Given the description of an element on the screen output the (x, y) to click on. 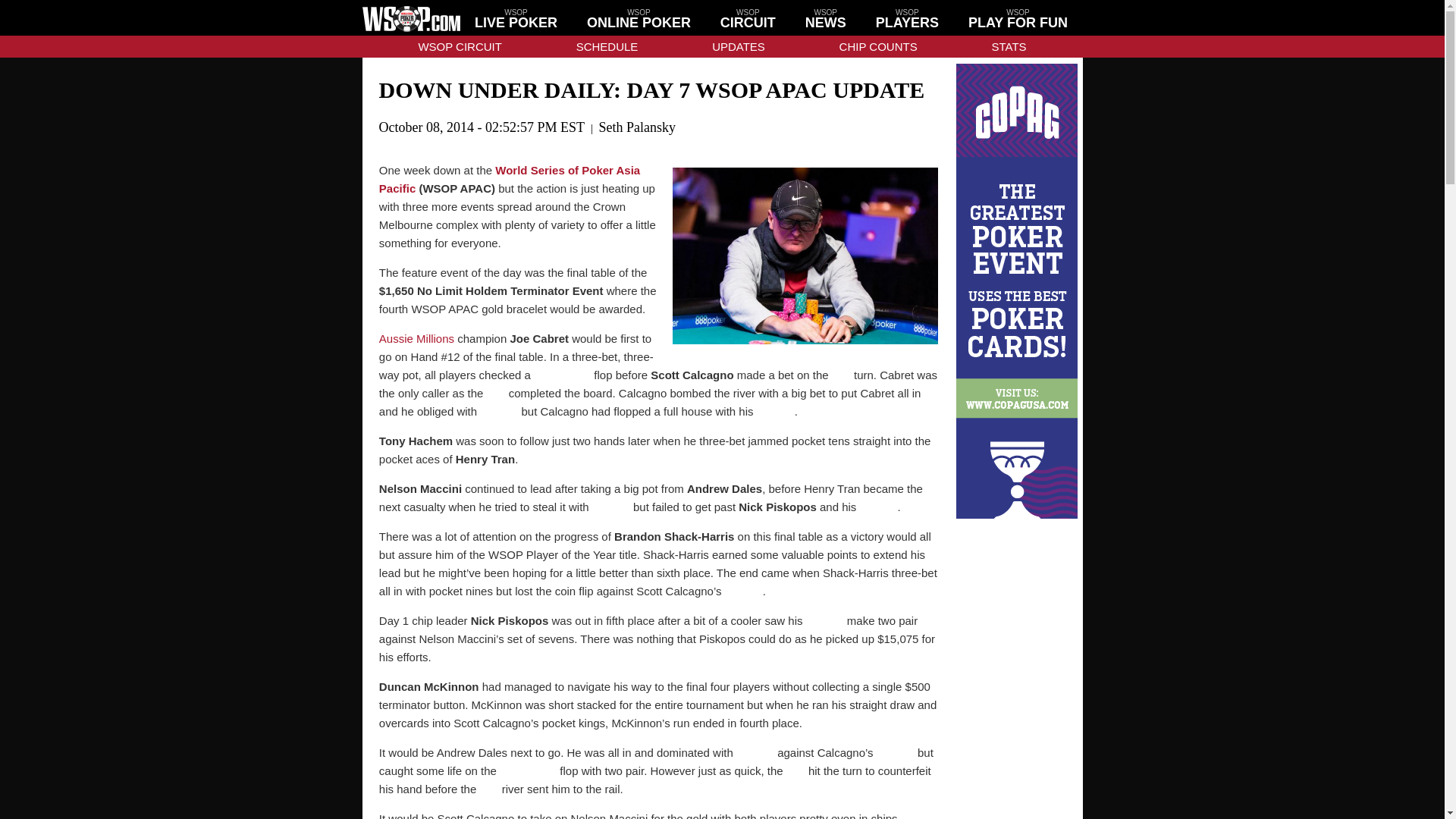
WSOPONLINE POKER (638, 16)
WSOPCIRCUIT (748, 16)
WSOPLIVE POKER (515, 16)
WSOPNEWS (825, 16)
WSOPPLAYERS (907, 16)
WSOPPLAY FOR FUN (1017, 16)
